Given the description of an element on the screen output the (x, y) to click on. 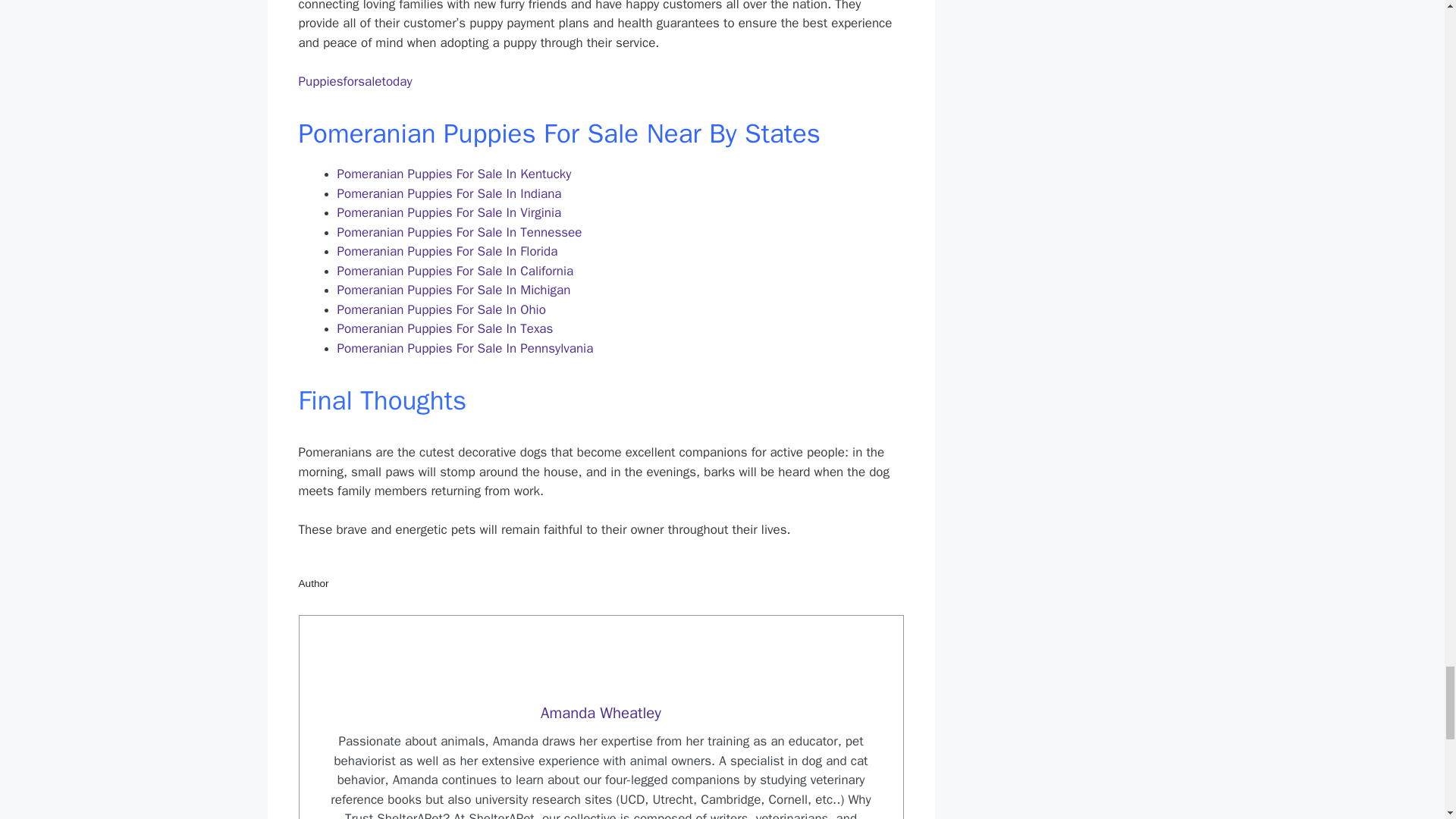
Pomeranian Puppies For Sale In Ohio (440, 309)
Pomeranian Puppies For Sale In Kentucky (453, 173)
Amanda Wheatley (600, 712)
Puppiesforsaletoday (355, 81)
Pomeranian Puppies For Sale In Michigan (453, 289)
Pomeranian Puppies For Sale In Pennsylvania (464, 348)
Amanda Wheatley (600, 712)
Pomeranian Puppies For Sale In Texas (444, 328)
Pomeranian Puppies For Sale In Tennessee (458, 232)
Pomeranian Puppies For Sale In Indiana (448, 193)
Pomeranian Puppies For Sale In Florida (446, 251)
Pomeranian Puppies For Sale In California (454, 270)
Pomeranian Puppies For Sale In Virginia (448, 212)
